Given the description of an element on the screen output the (x, y) to click on. 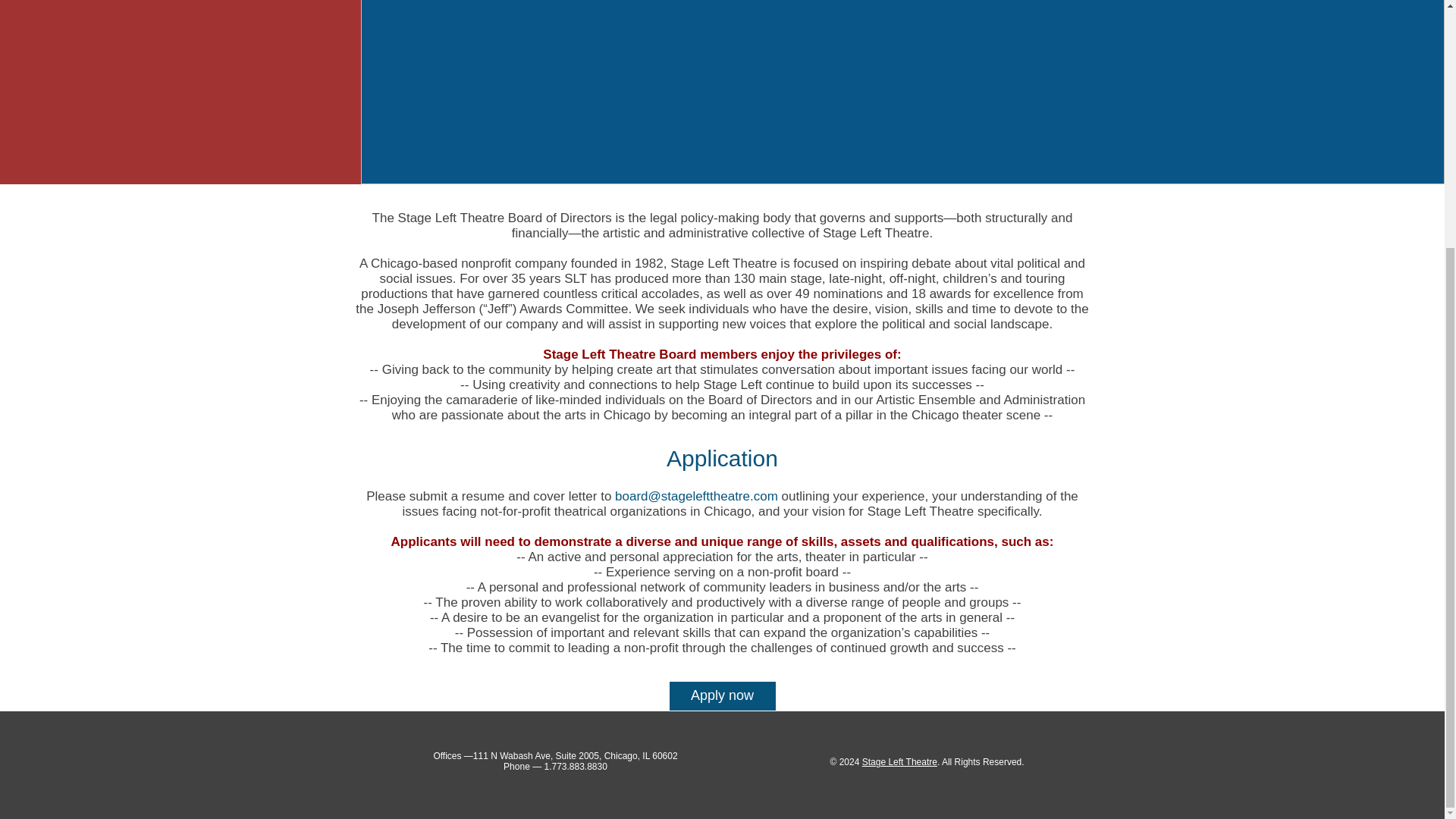
Stage Left Theatre (899, 761)
Apply now (722, 695)
